Given the description of an element on the screen output the (x, y) to click on. 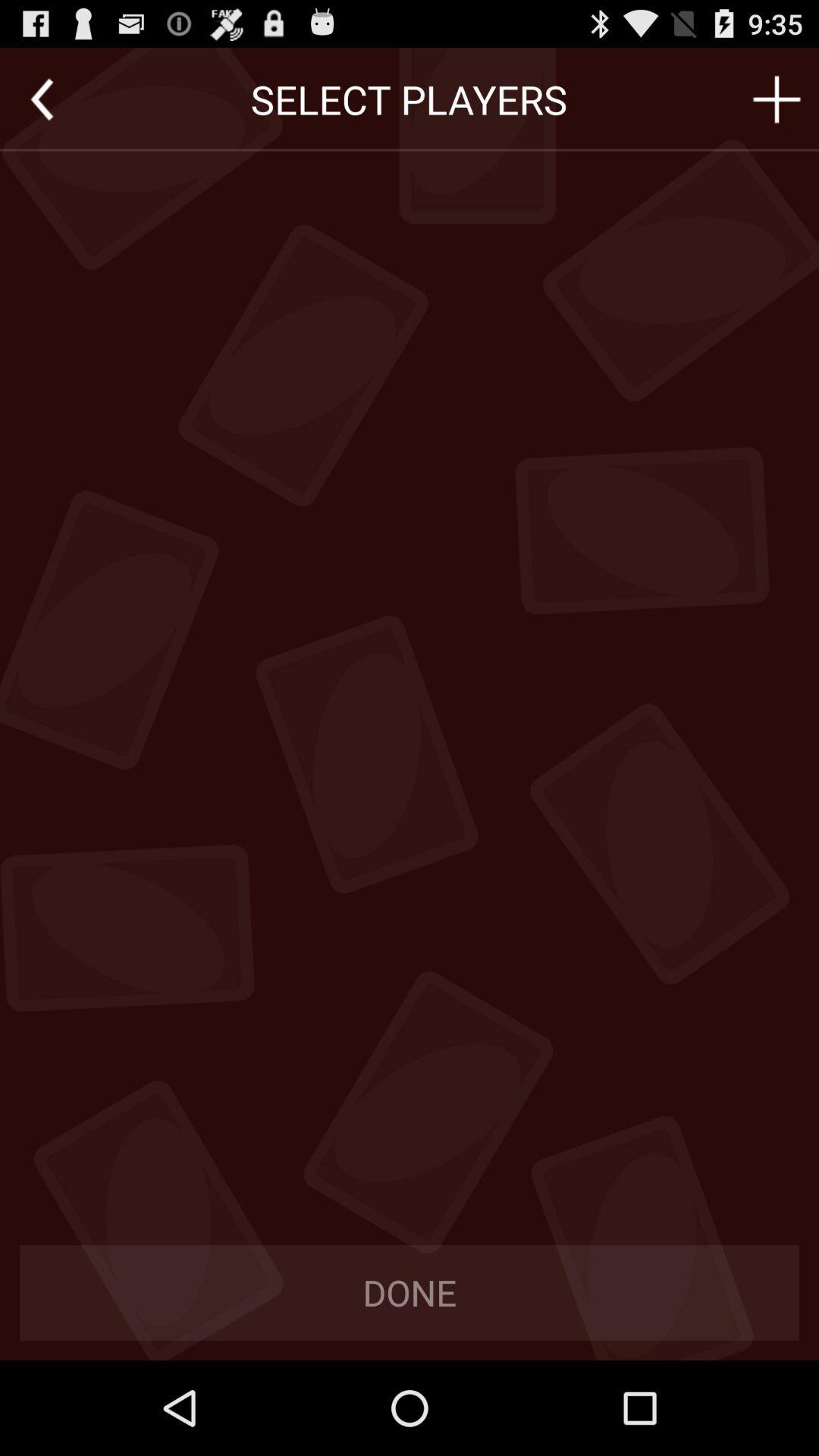
select to add option (776, 99)
